Given the description of an element on the screen output the (x, y) to click on. 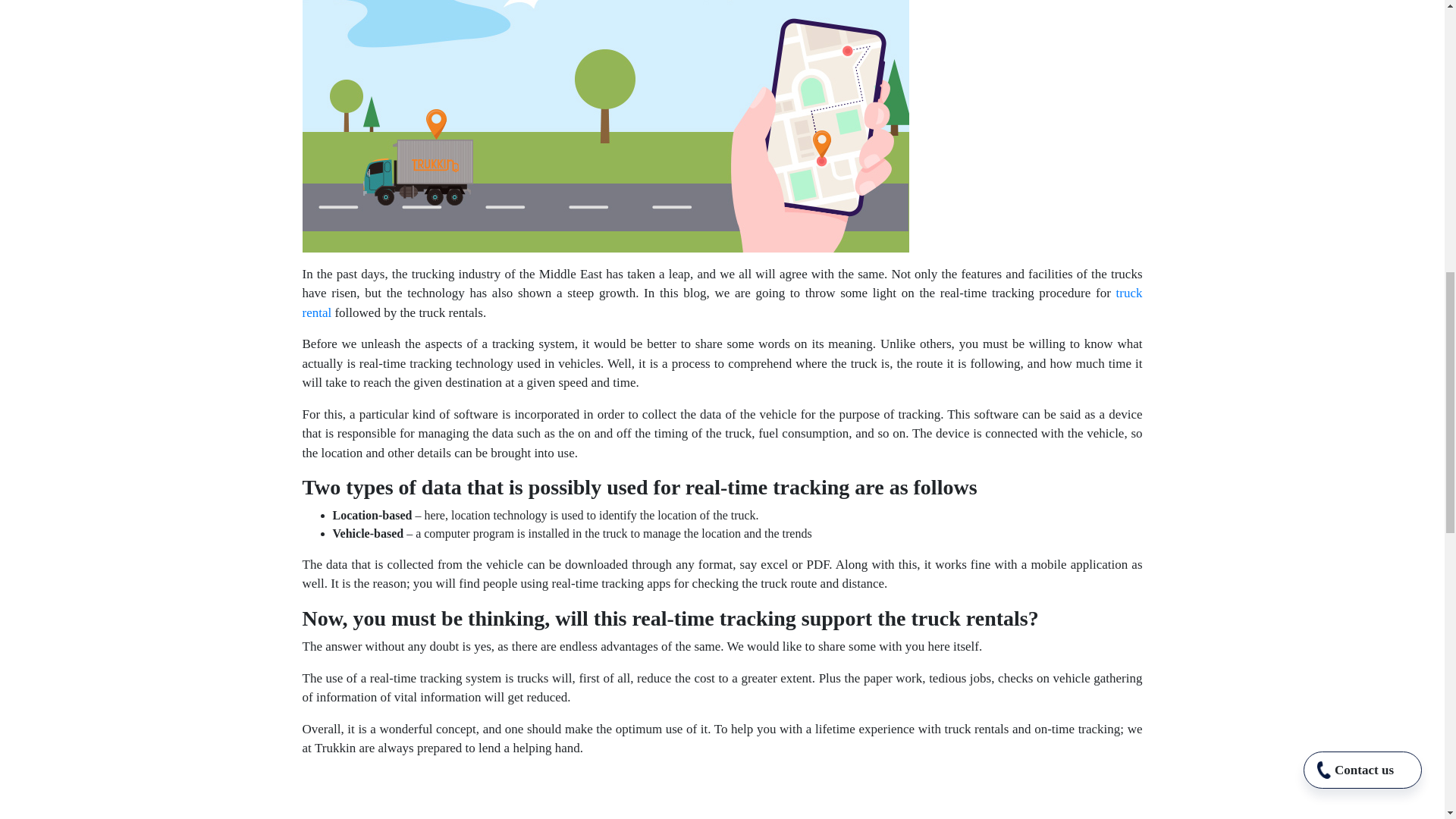
truck rental (721, 302)
